Given the description of an element on the screen output the (x, y) to click on. 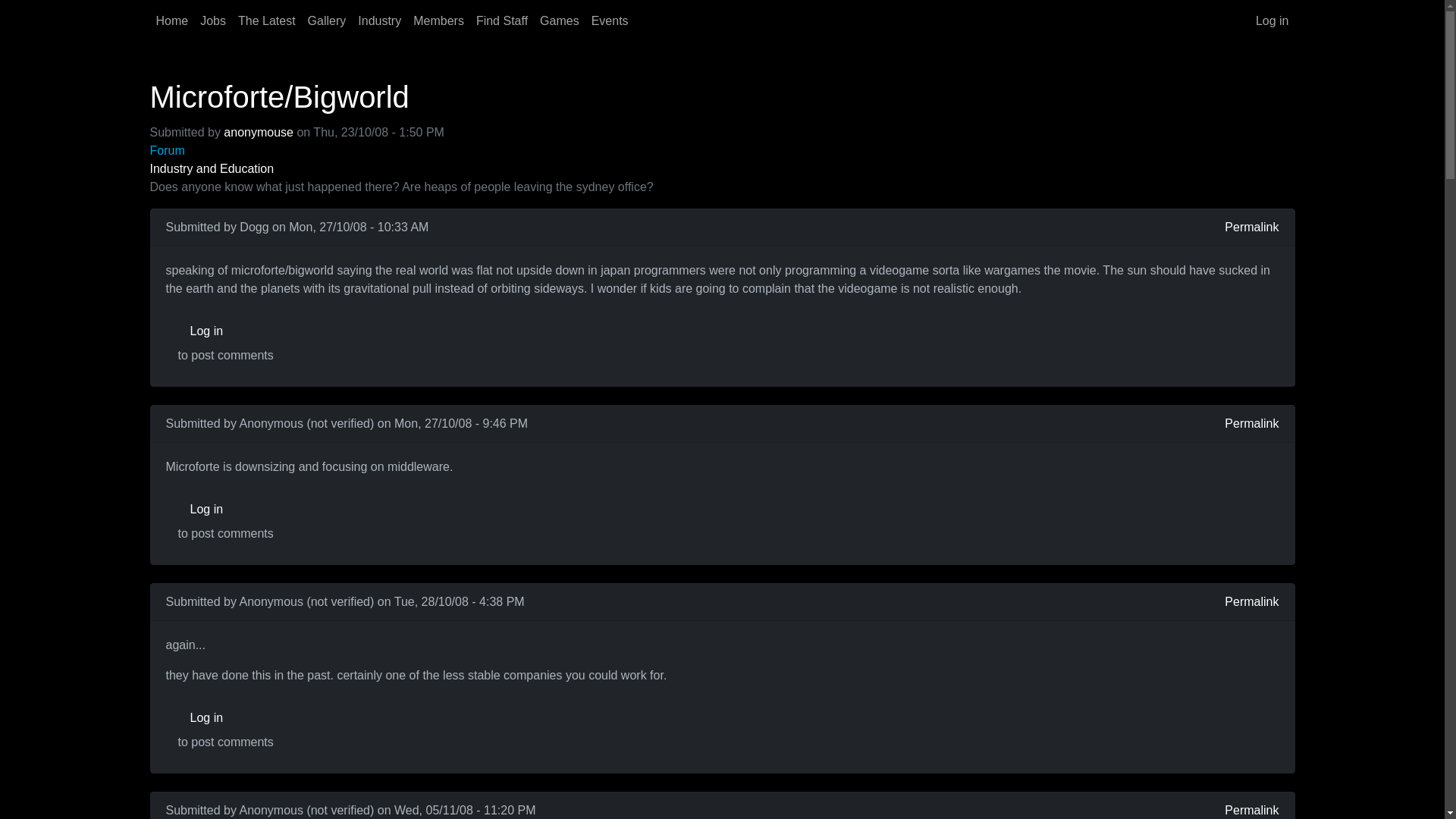
Gallery (326, 20)
anonymouse (259, 132)
Permalink (1251, 423)
Log in (1272, 20)
microforte (201, 466)
Thursday, 23 October, 2008 - 1:50 PM (378, 132)
Permalink (1251, 810)
again... they have done this (265, 644)
Permalink (1251, 227)
The Latest (266, 20)
Home (172, 20)
Find Staff (502, 20)
Events (609, 20)
speaking of (206, 270)
Jobs (212, 20)
